Given the description of an element on the screen output the (x, y) to click on. 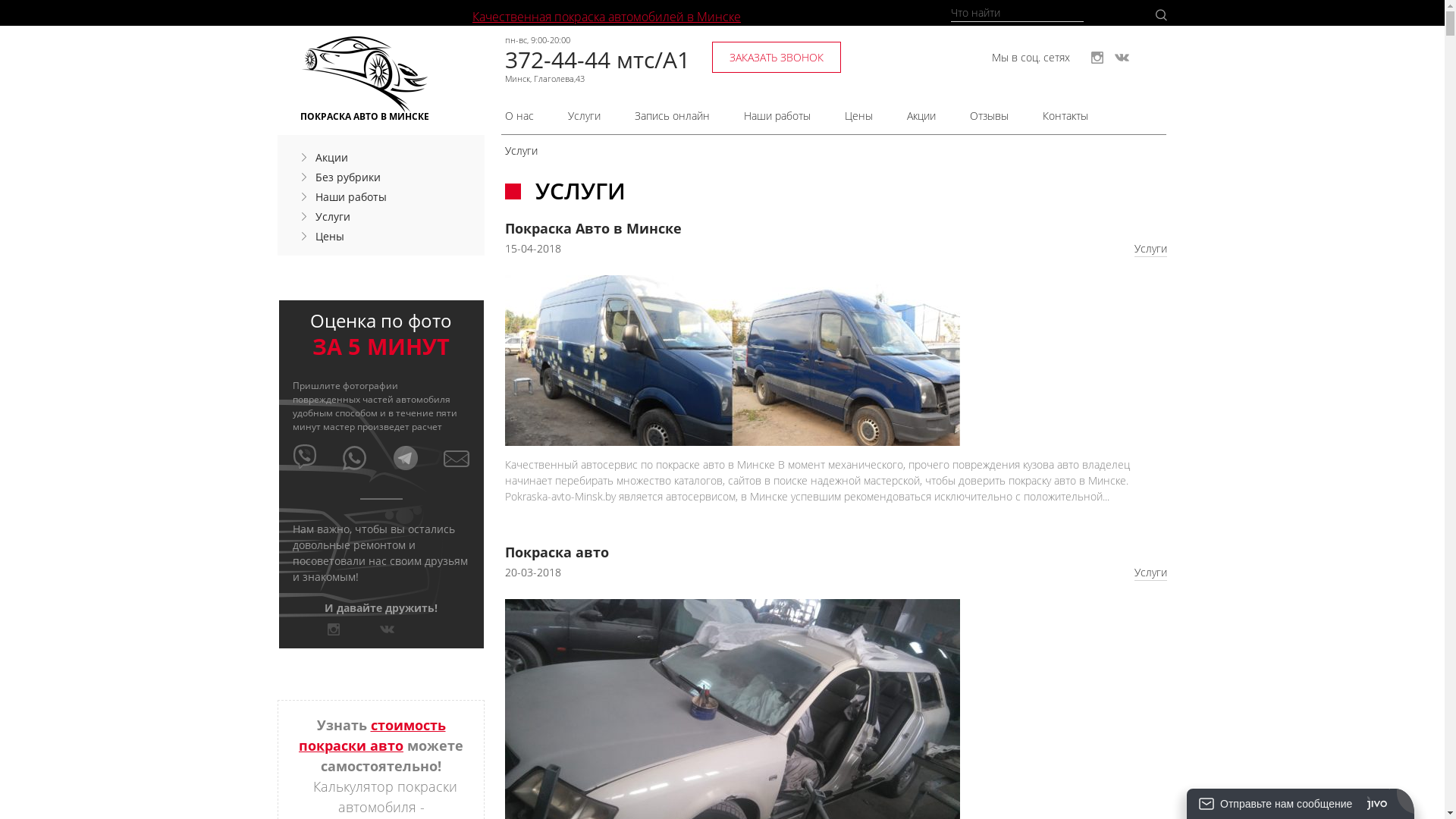
instagram Element type: text (1097, 57)
instagram Element type: text (333, 629)
vkontakte Element type: text (1121, 57)
vkontakte Element type: text (386, 629)
